Given the description of an element on the screen output the (x, y) to click on. 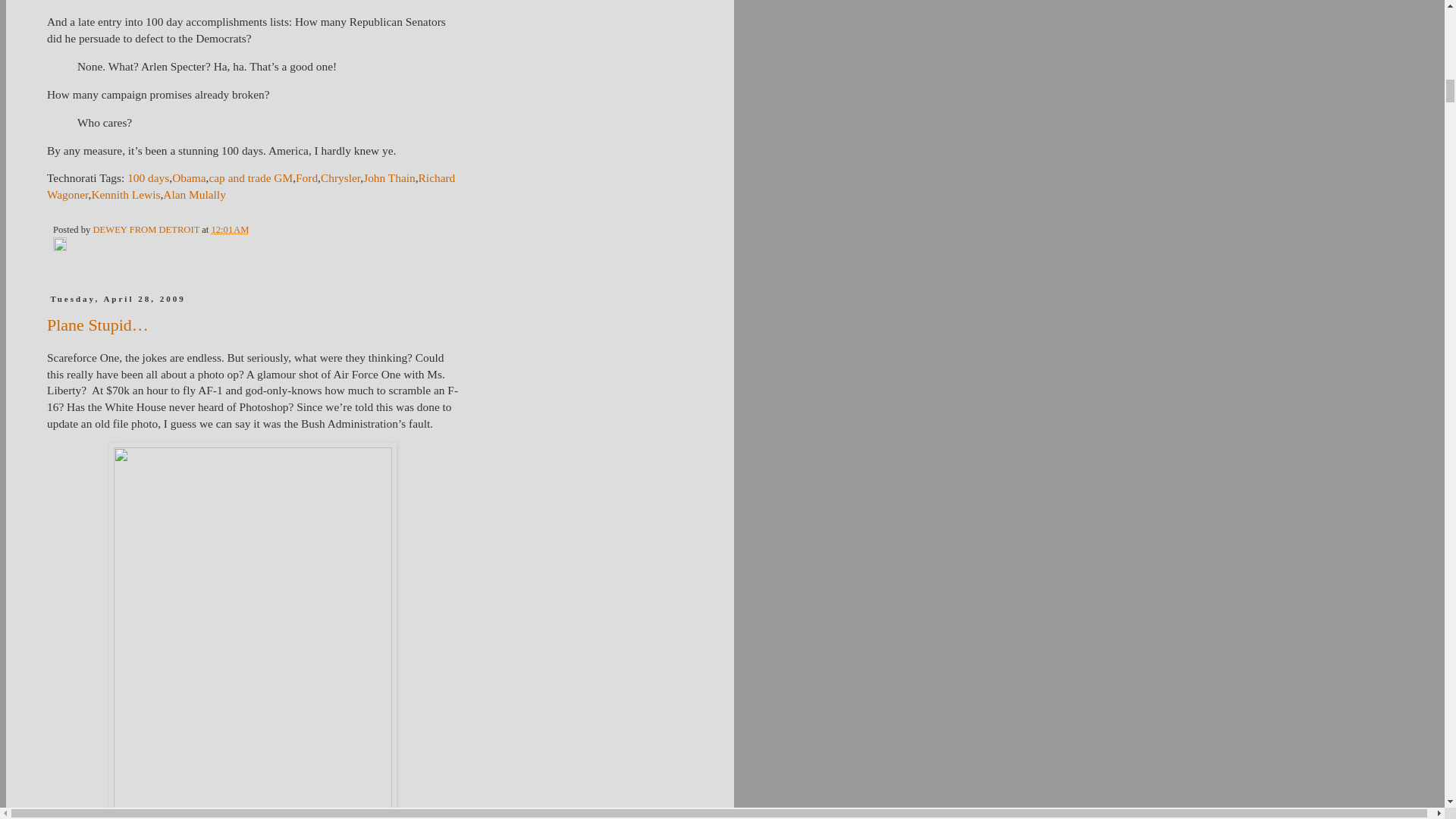
Alan Mulally (194, 194)
author profile (147, 229)
John Thain (388, 177)
Edit Post (59, 247)
cap and trade GM (250, 177)
Obama (188, 177)
Ford (306, 177)
100 days (148, 177)
Kennith Lewis (125, 194)
